Given the description of an element on the screen output the (x, y) to click on. 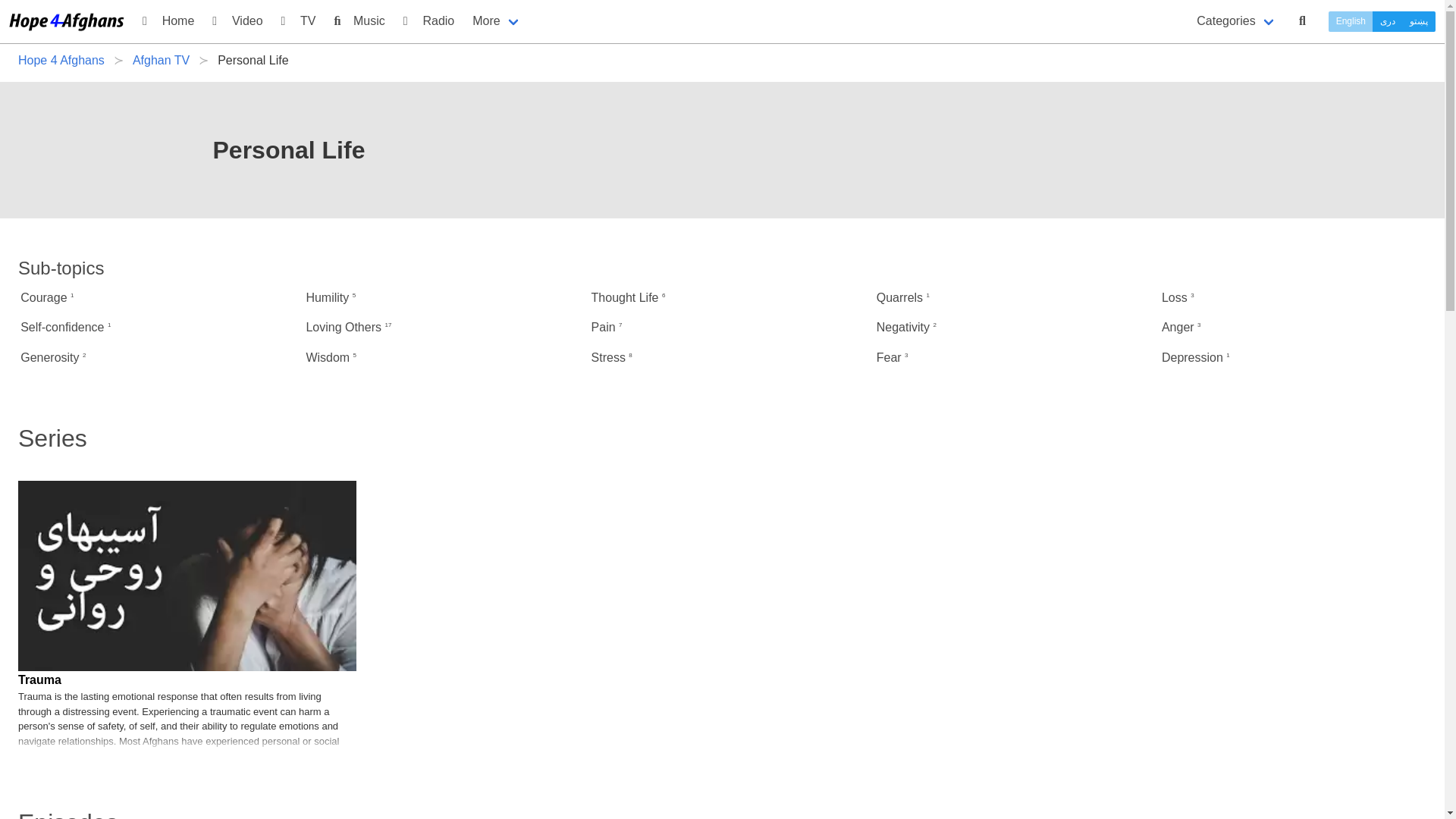
More (496, 21)
 Video (236, 21)
 Radio (428, 21)
 TV (298, 21)
Afghan TV (160, 60)
Personal Life (252, 60)
 Home (168, 21)
Courage 1 (151, 296)
Self-confidence 1 (151, 326)
Hope 4 Afghans (65, 60)
Categories (1236, 20)
English (1350, 20)
 Music (358, 21)
